Given the description of an element on the screen output the (x, y) to click on. 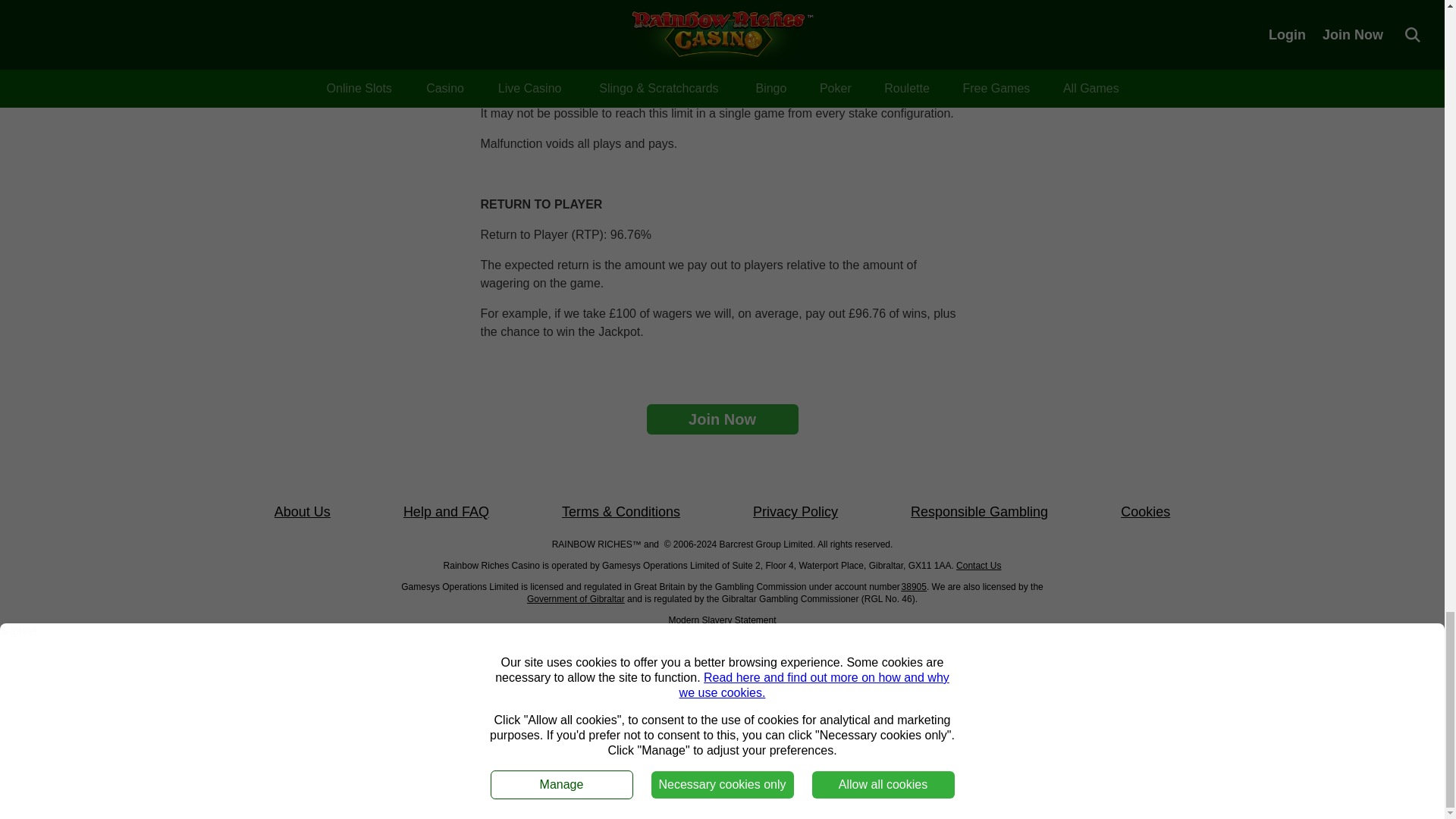
Contact Us (978, 565)
Cookies (1145, 512)
Government of Gibraltar (575, 598)
About Us (302, 512)
Modern Slavery Statement (722, 620)
38905 (913, 586)
Responsible Gambling (979, 512)
Help and FAQ (446, 512)
Join Now (721, 419)
Privacy Policy (795, 512)
Join Now (721, 419)
